Given the description of an element on the screen output the (x, y) to click on. 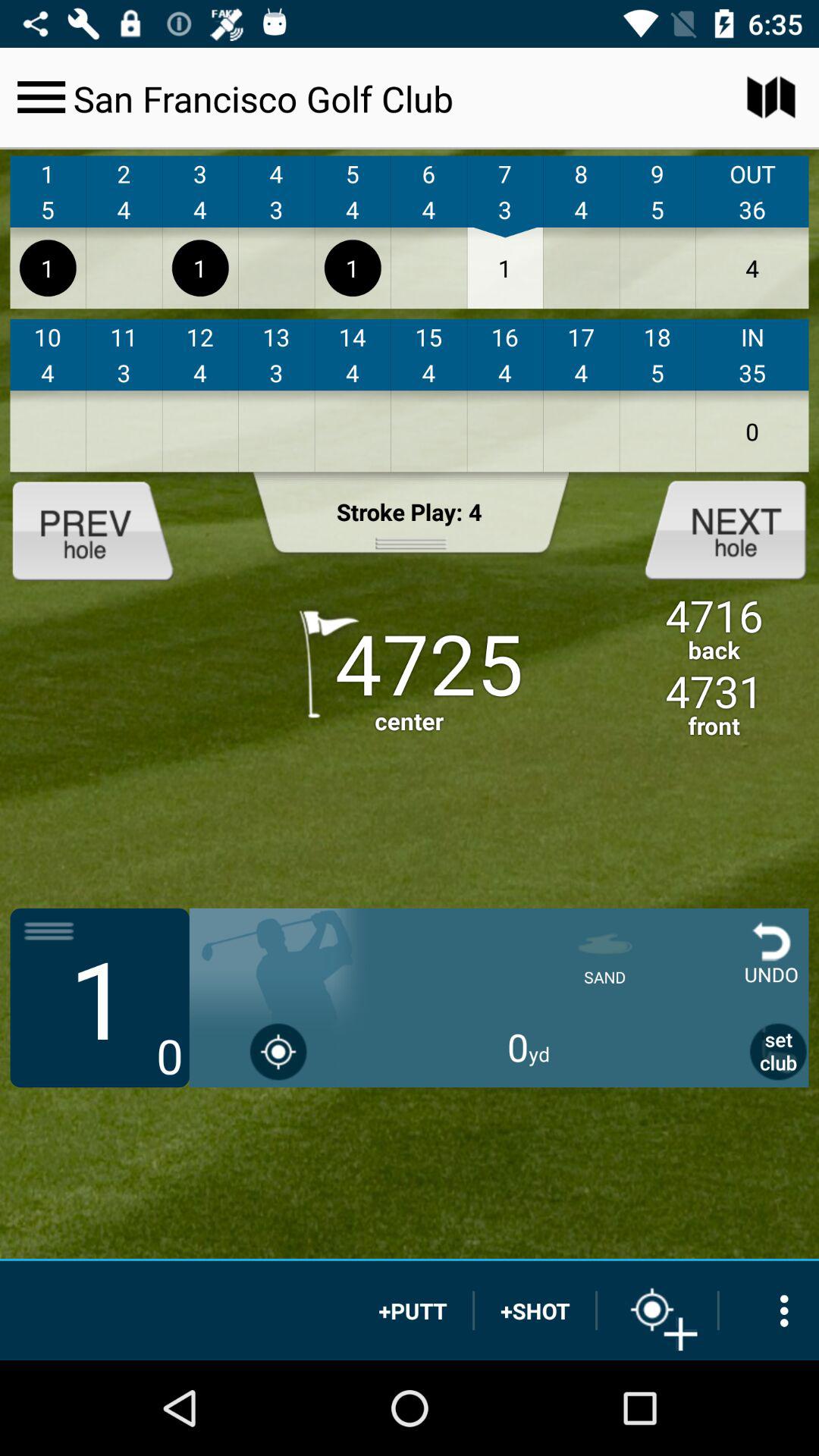
next options (712, 528)
